Given the description of an element on the screen output the (x, y) to click on. 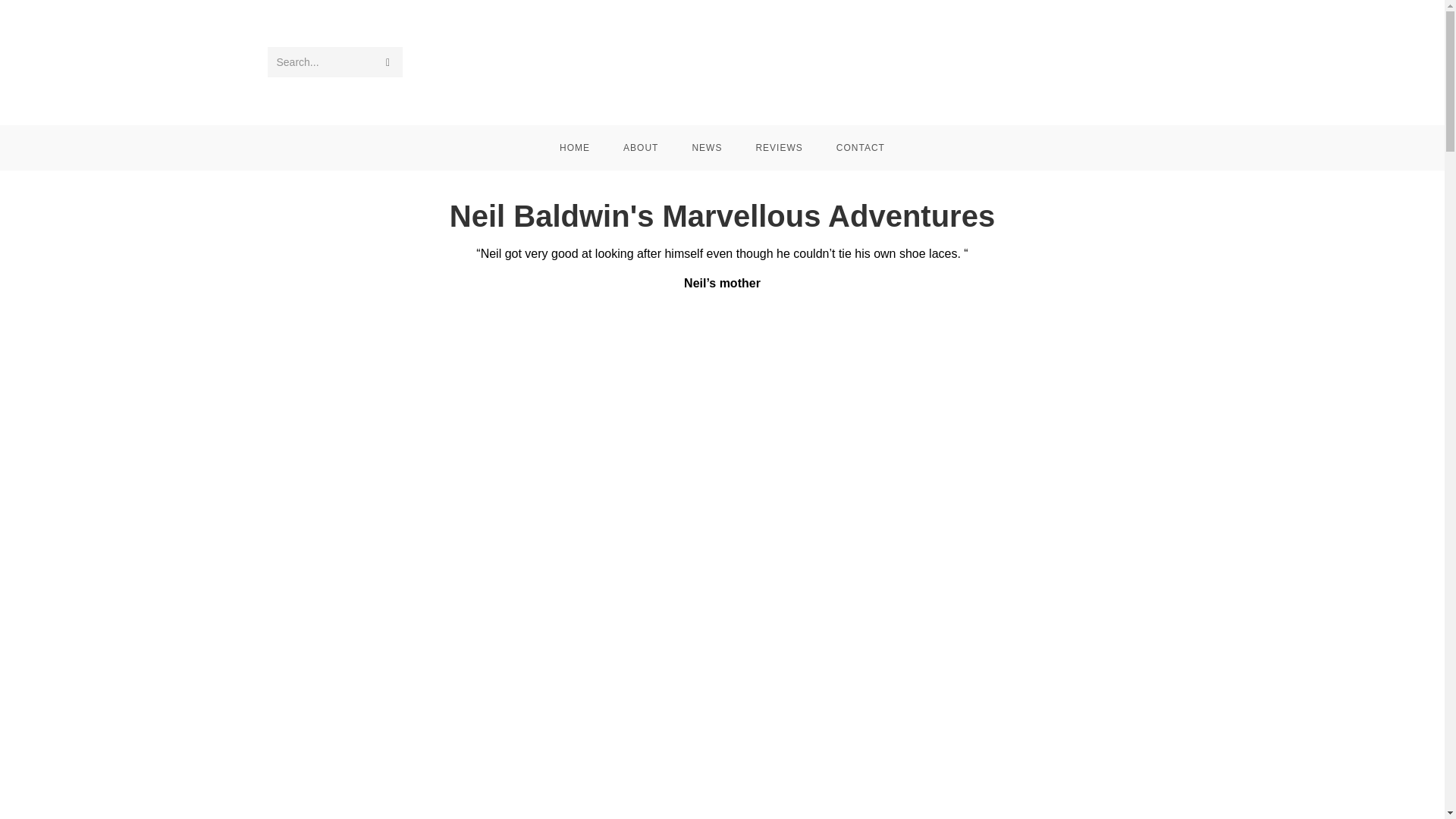
ABOUT (641, 147)
NEWS (706, 147)
CONTACT (860, 147)
HOME (575, 147)
REVIEWS (778, 147)
